Given the description of an element on the screen output the (x, y) to click on. 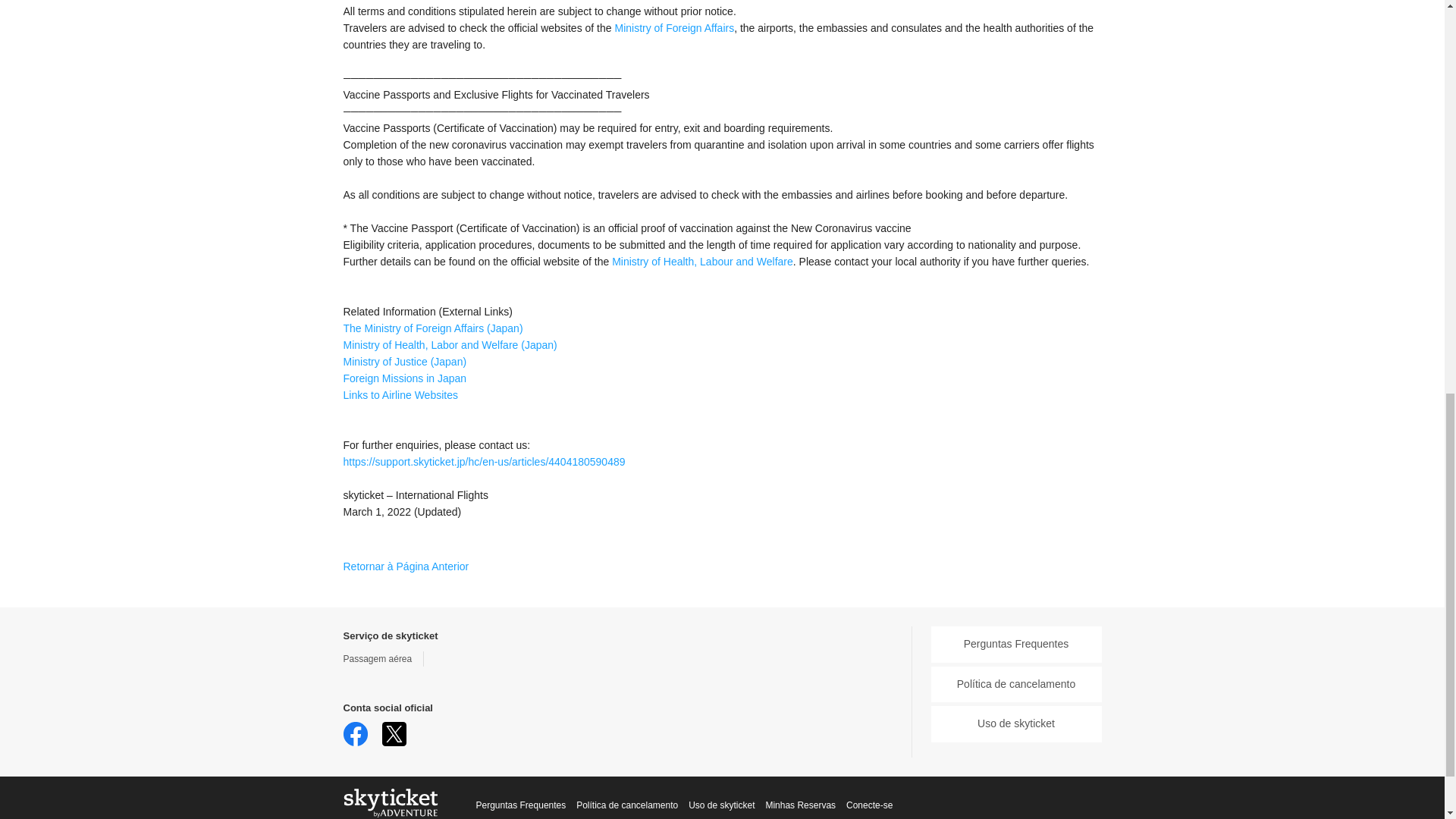
Ministry of Foreign Affairs (673, 28)
Links to Airline Websites (399, 395)
Ministry of Health, Labour and Welfare (702, 261)
Foreign Missions in Japan (403, 378)
